Given the description of an element on the screen output the (x, y) to click on. 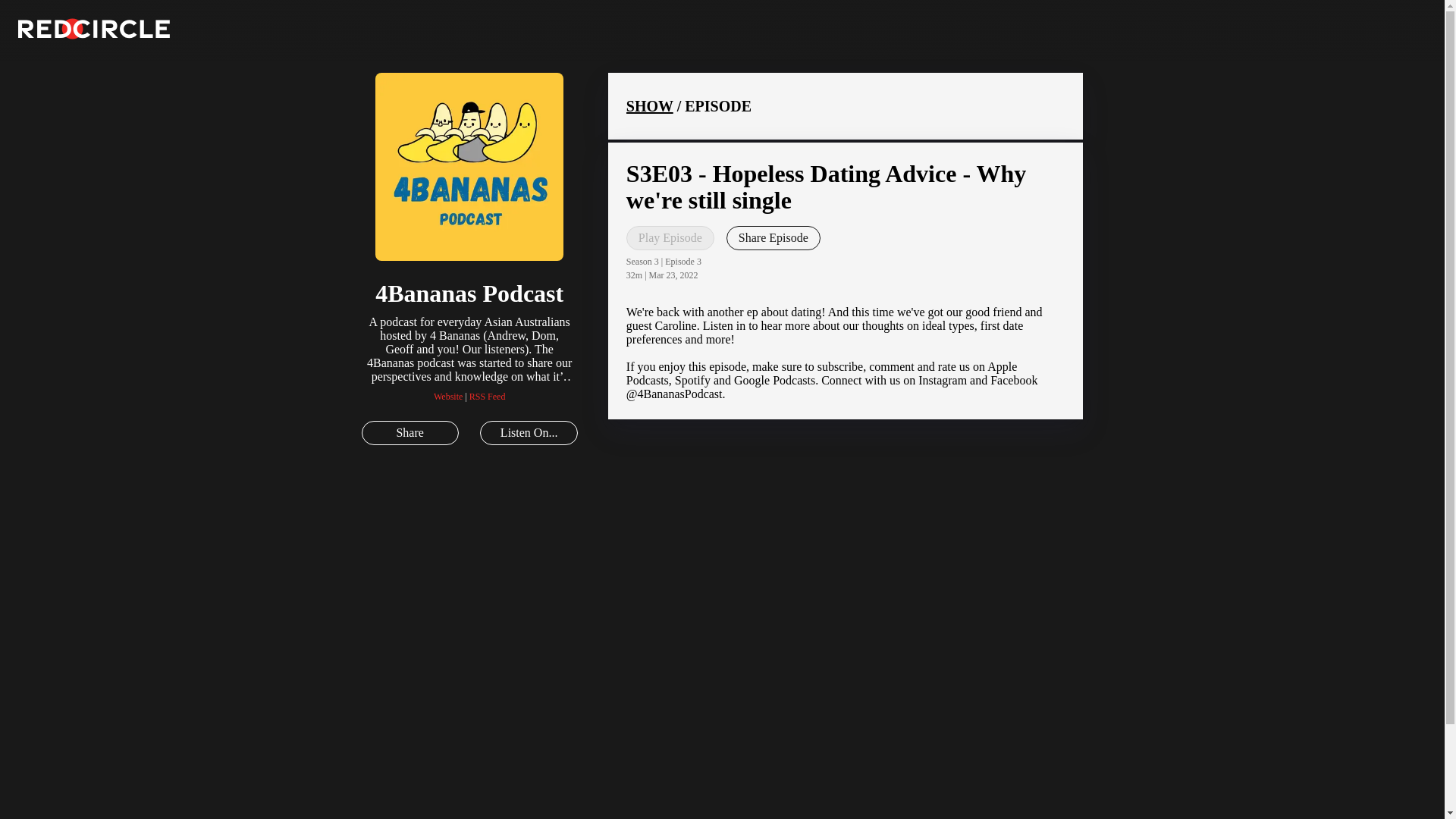
RSS Feed (486, 396)
Share (409, 432)
Play Episode (670, 238)
SHOW (649, 105)
Listen On... (528, 432)
Website (448, 396)
Share Episode (773, 238)
